Given the description of an element on the screen output the (x, y) to click on. 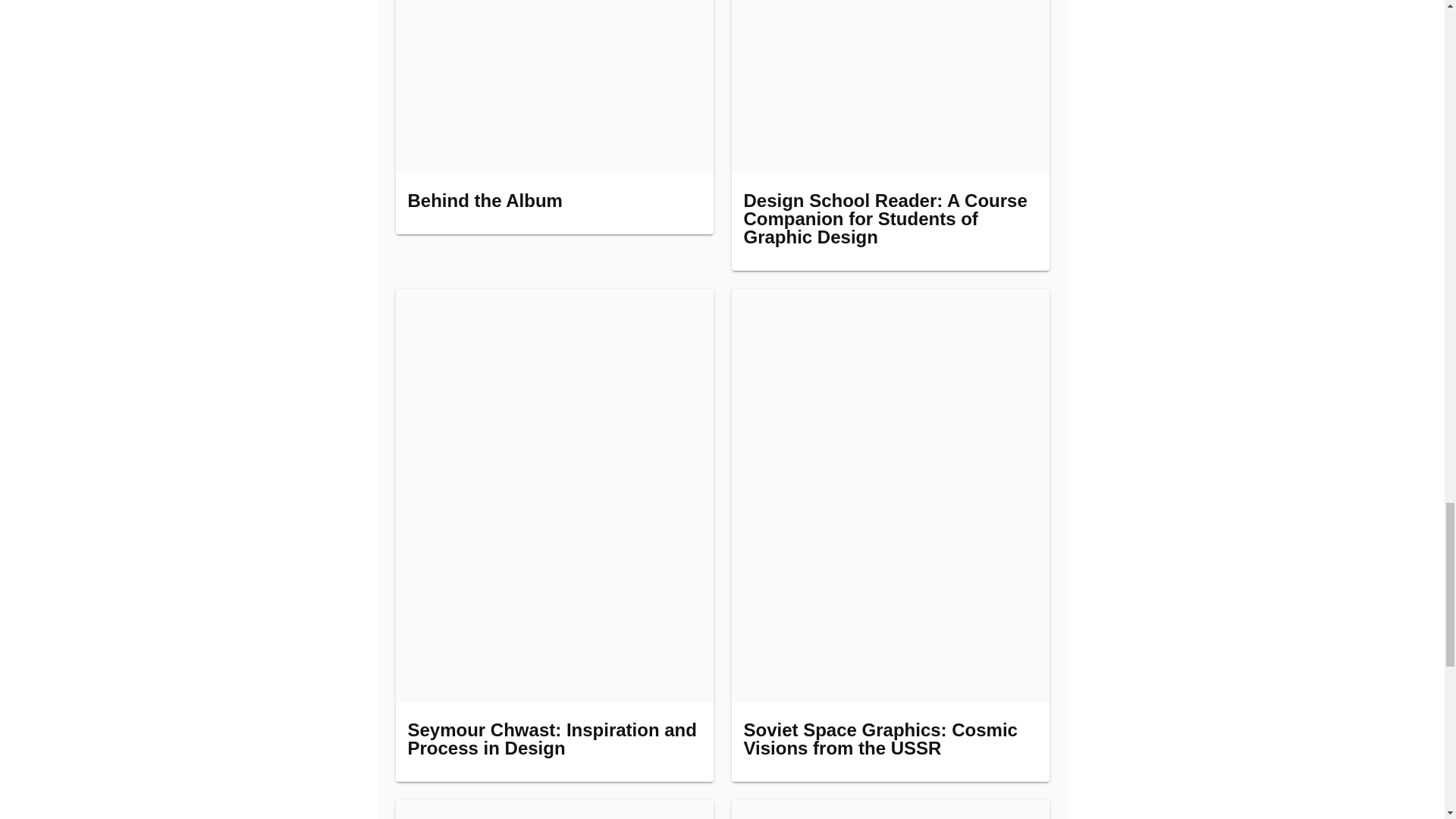
Win Out: The Best of Sports Graphic Design and Branding (554, 809)
Behind the Album (554, 117)
Format for Graphic Designers (889, 809)
